Given the description of an element on the screen output the (x, y) to click on. 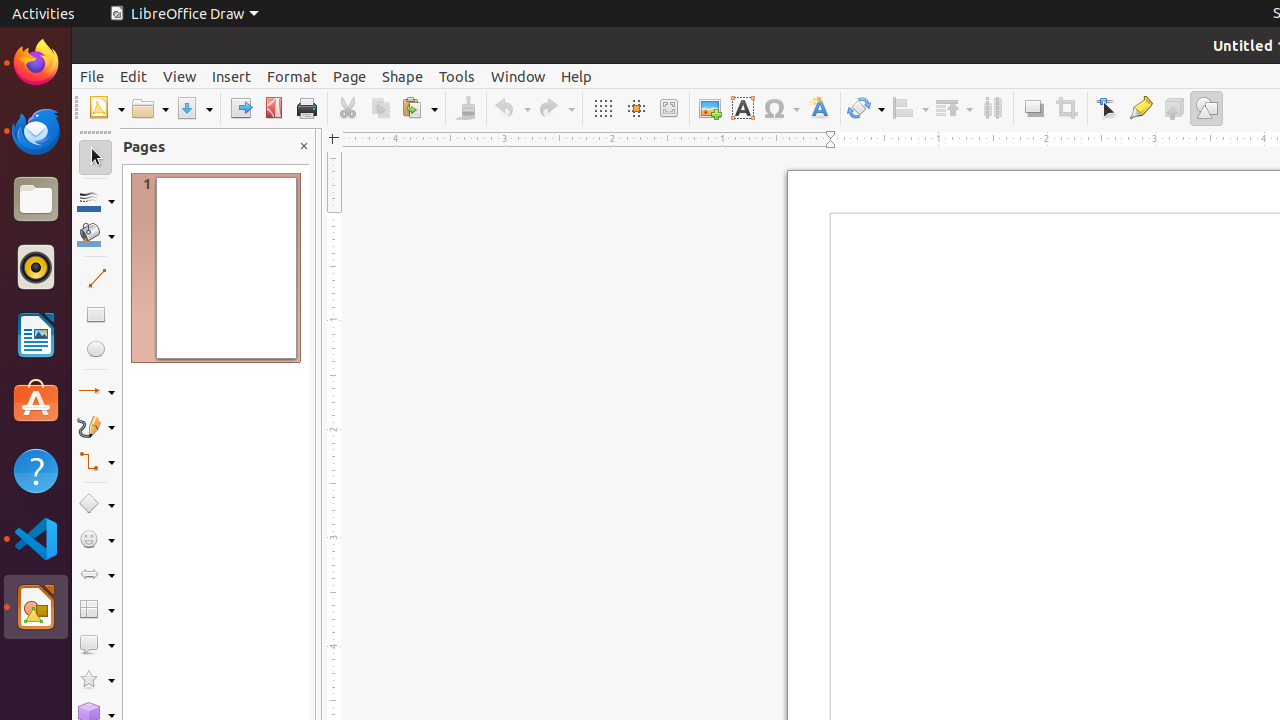
Zoom & Pan Element type: push-button (668, 108)
File Element type: menu (92, 76)
Lines and Arrows Element type: push-button (96, 391)
Image Element type: push-button (709, 108)
